Given the description of an element on the screen output the (x, y) to click on. 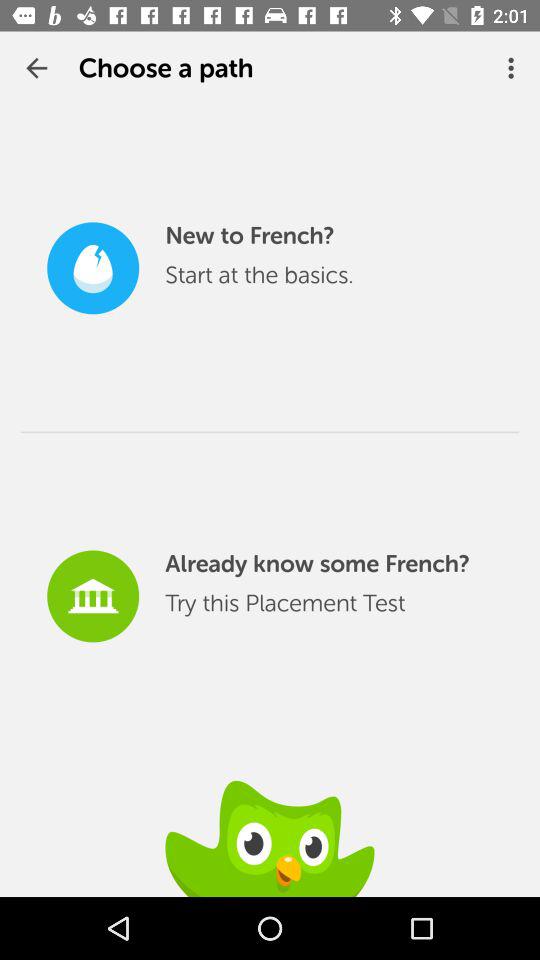
click icon next to choose a path icon (513, 67)
